Given the description of an element on the screen output the (x, y) to click on. 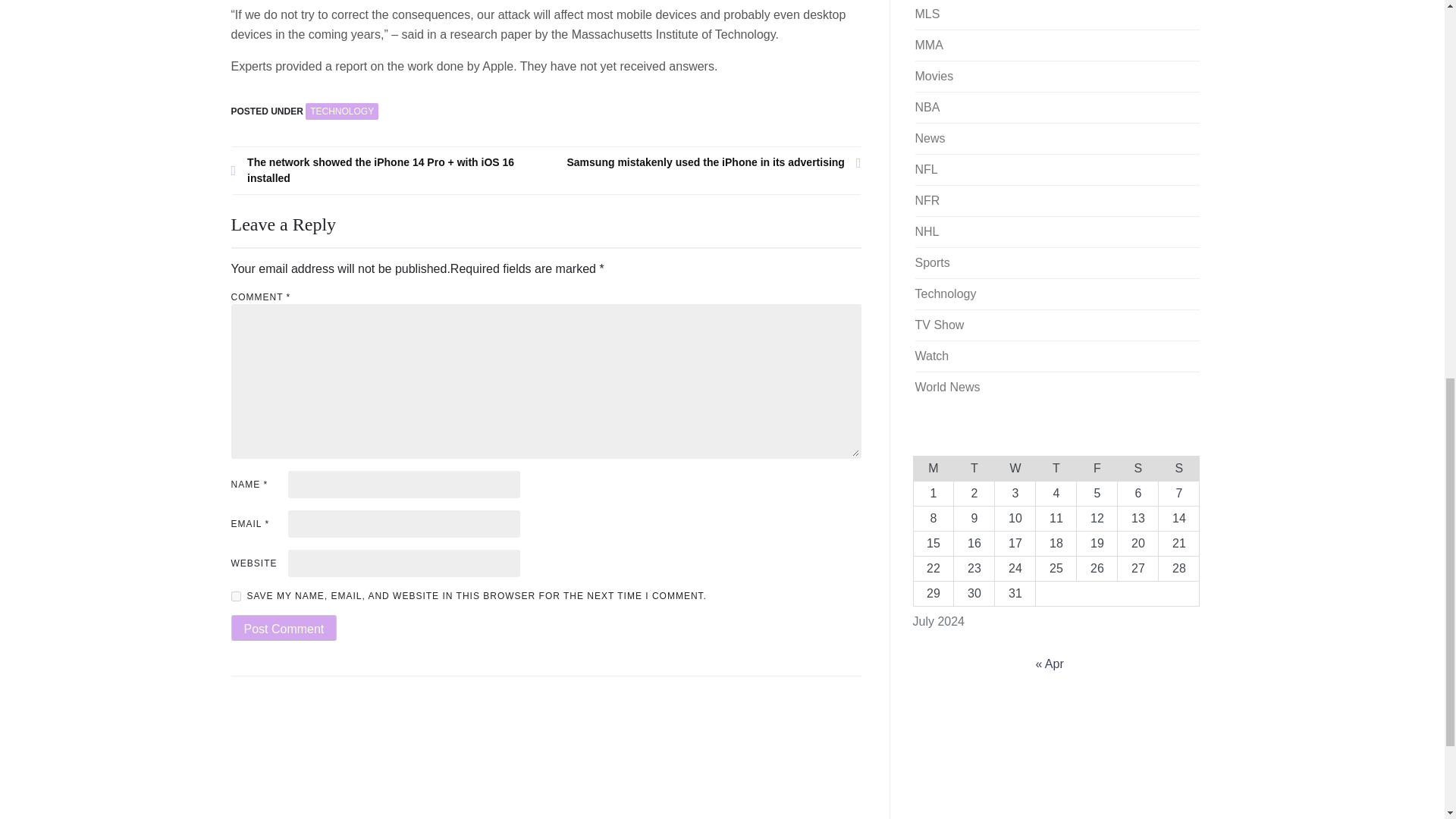
Post Comment (283, 627)
Tuesday (973, 467)
Friday (1097, 467)
Saturday (1138, 467)
Wednesday (1014, 467)
Monday (932, 467)
Thursday (1056, 467)
Sunday (1178, 467)
Samsung mistakenly used the iPhone in its advertising (703, 162)
yes (235, 596)
TECHNOLOGY (341, 111)
